Given the description of an element on the screen output the (x, y) to click on. 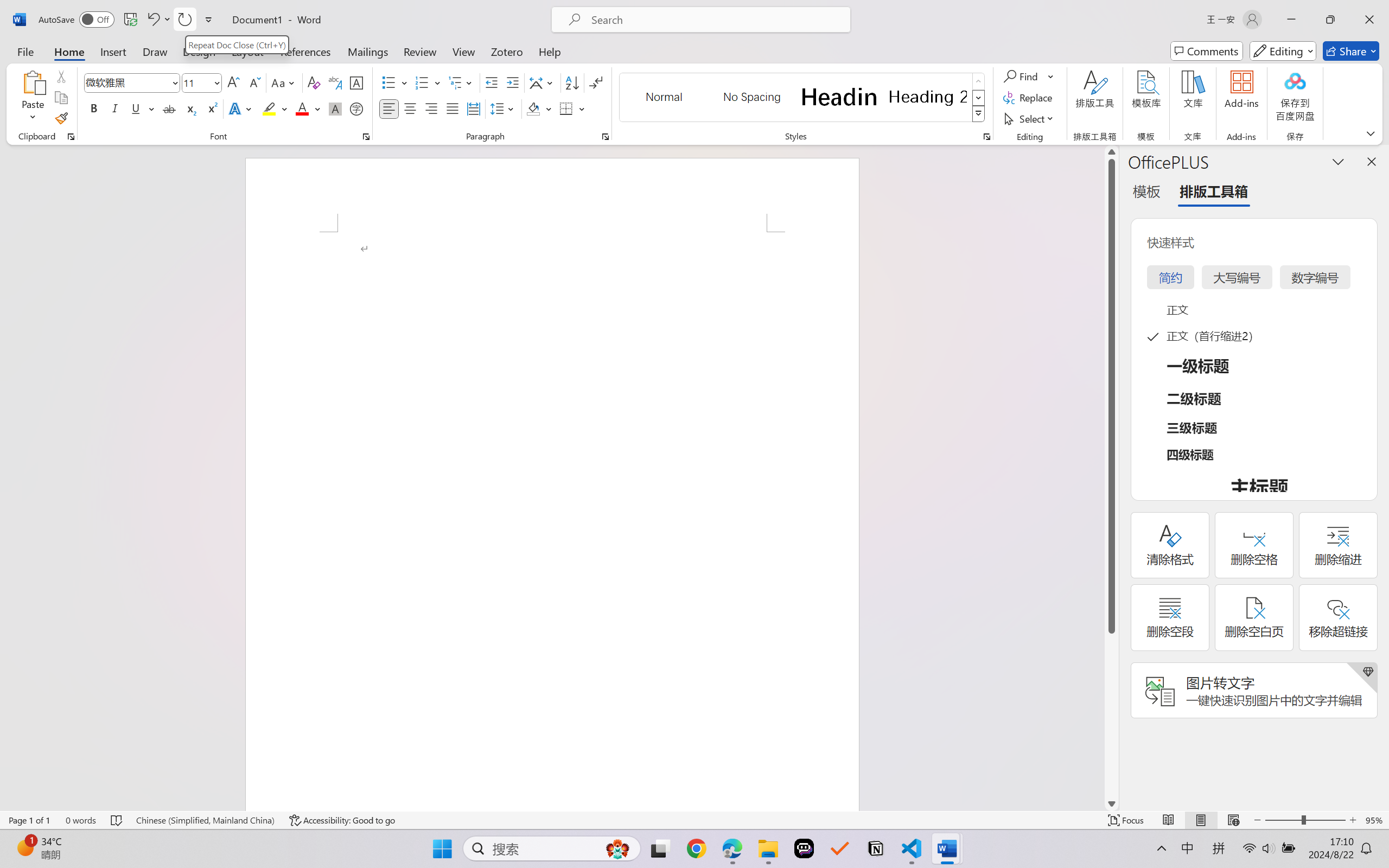
Line up (1111, 151)
Line down (1111, 803)
